Given the description of an element on the screen output the (x, y) to click on. 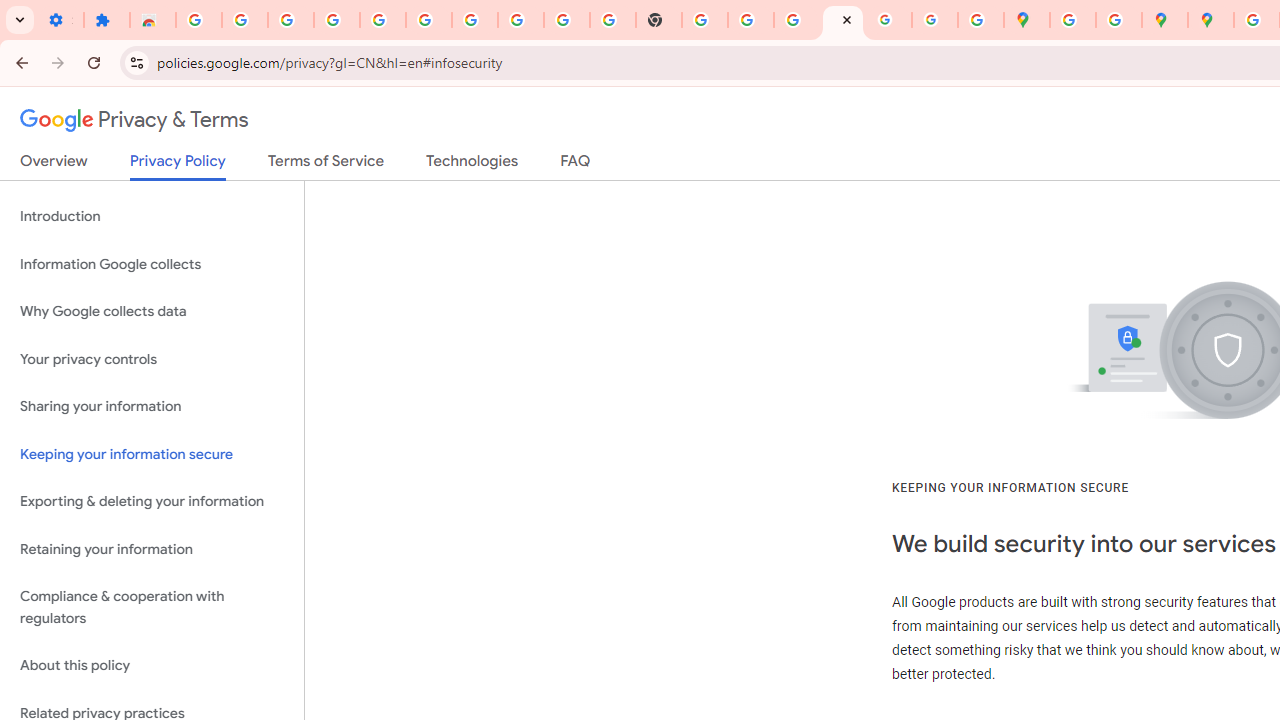
Delete photos & videos - Computer - Google Photos Help (290, 20)
Reviews: Helix Fruit Jump Arcade Game (153, 20)
New Tab (659, 20)
